Given the description of an element on the screen output the (x, y) to click on. 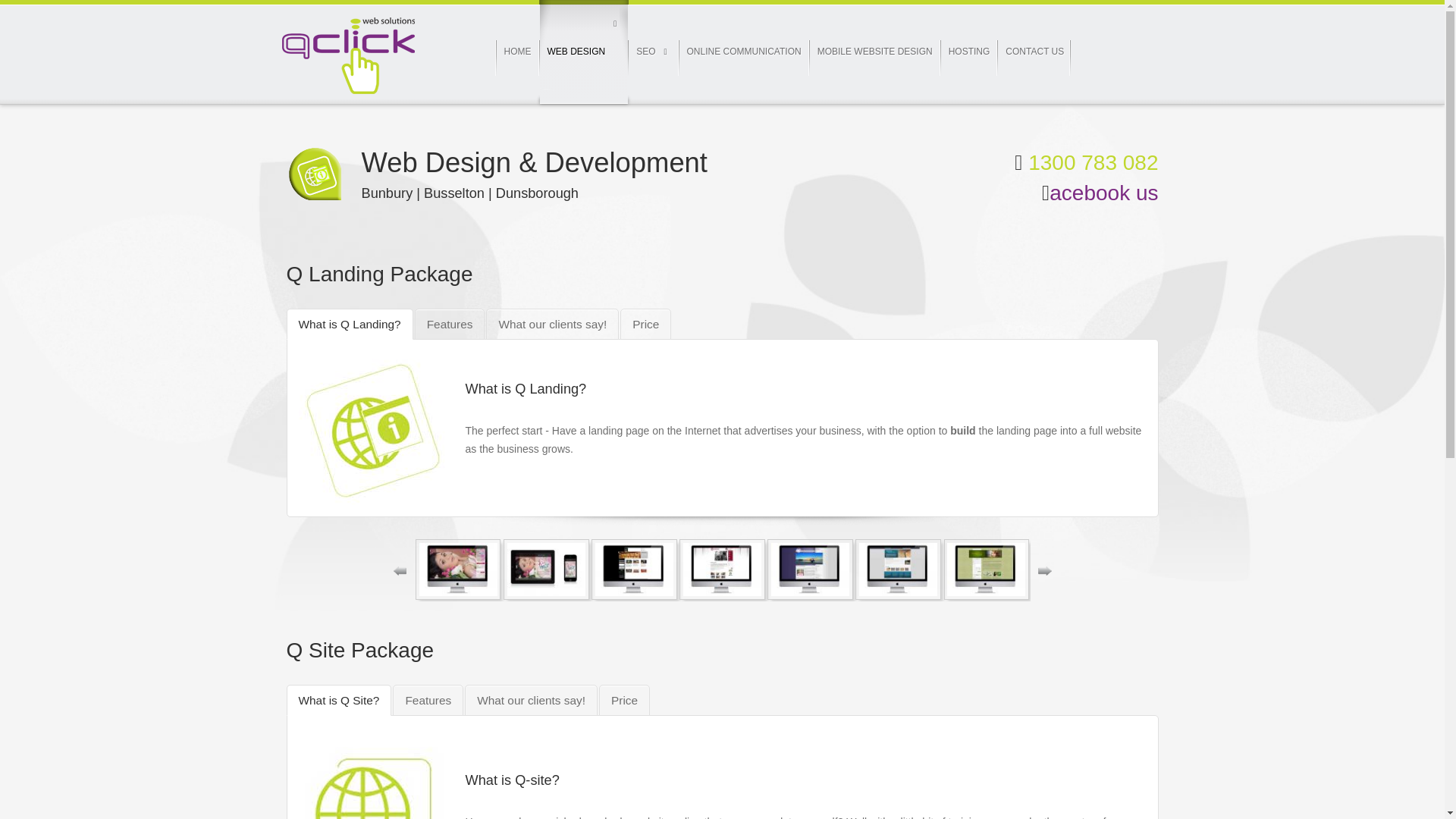
ONLINE COMMUNICATION (744, 51)
MOBILE WEBSITE DESIGN (874, 51)
acebook us (1103, 192)
